Given the description of an element on the screen output the (x, y) to click on. 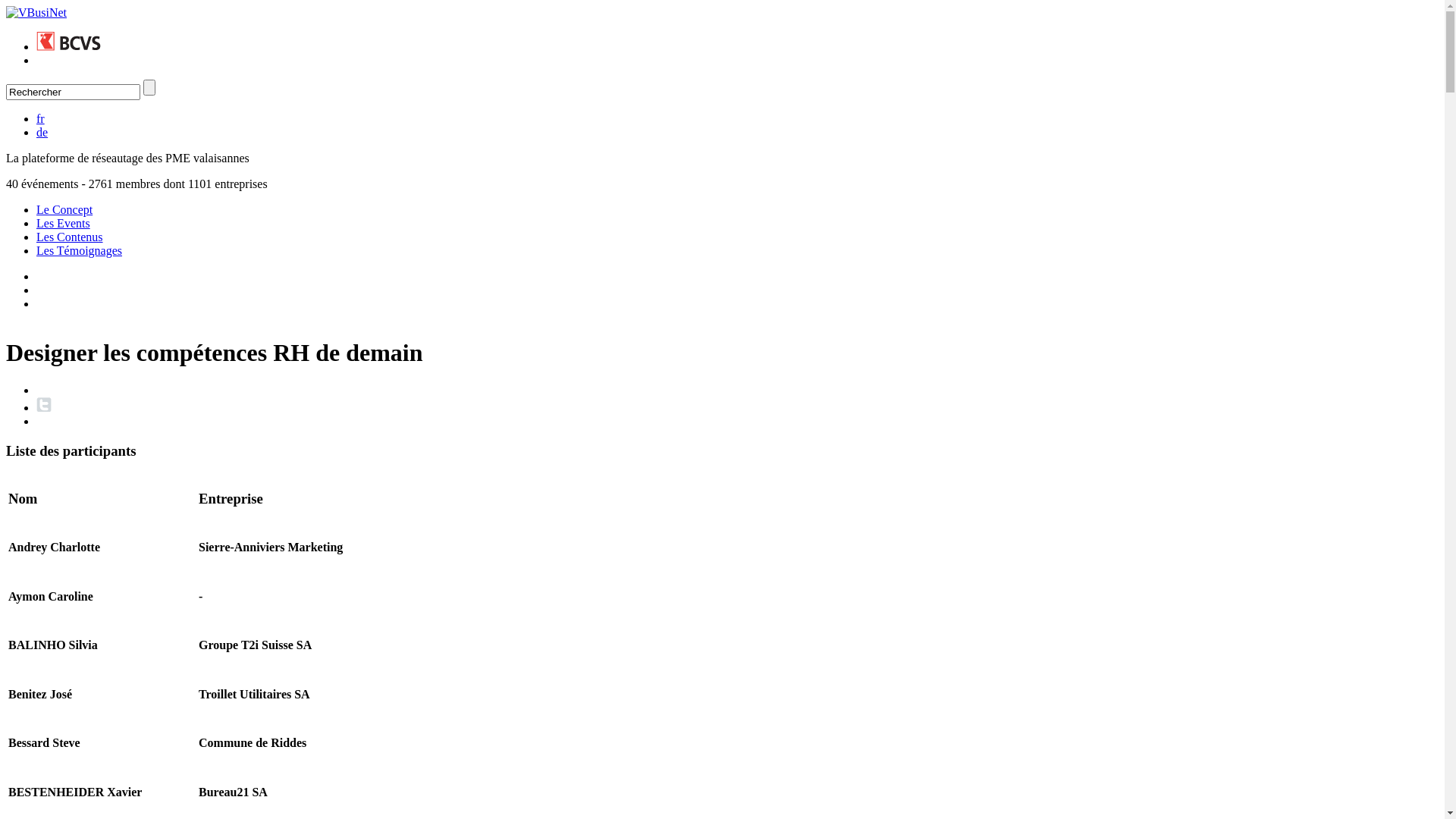
Rechercher Element type: text (73, 92)
de Element type: text (41, 131)
fr Element type: text (40, 118)
VBusiNet Element type: hover (36, 12)
Le Concept Element type: text (64, 209)
Les Events Element type: text (63, 222)
VBusiNet Element type: hover (36, 12)
Les Contenus Element type: text (69, 236)
